Given the description of an element on the screen output the (x, y) to click on. 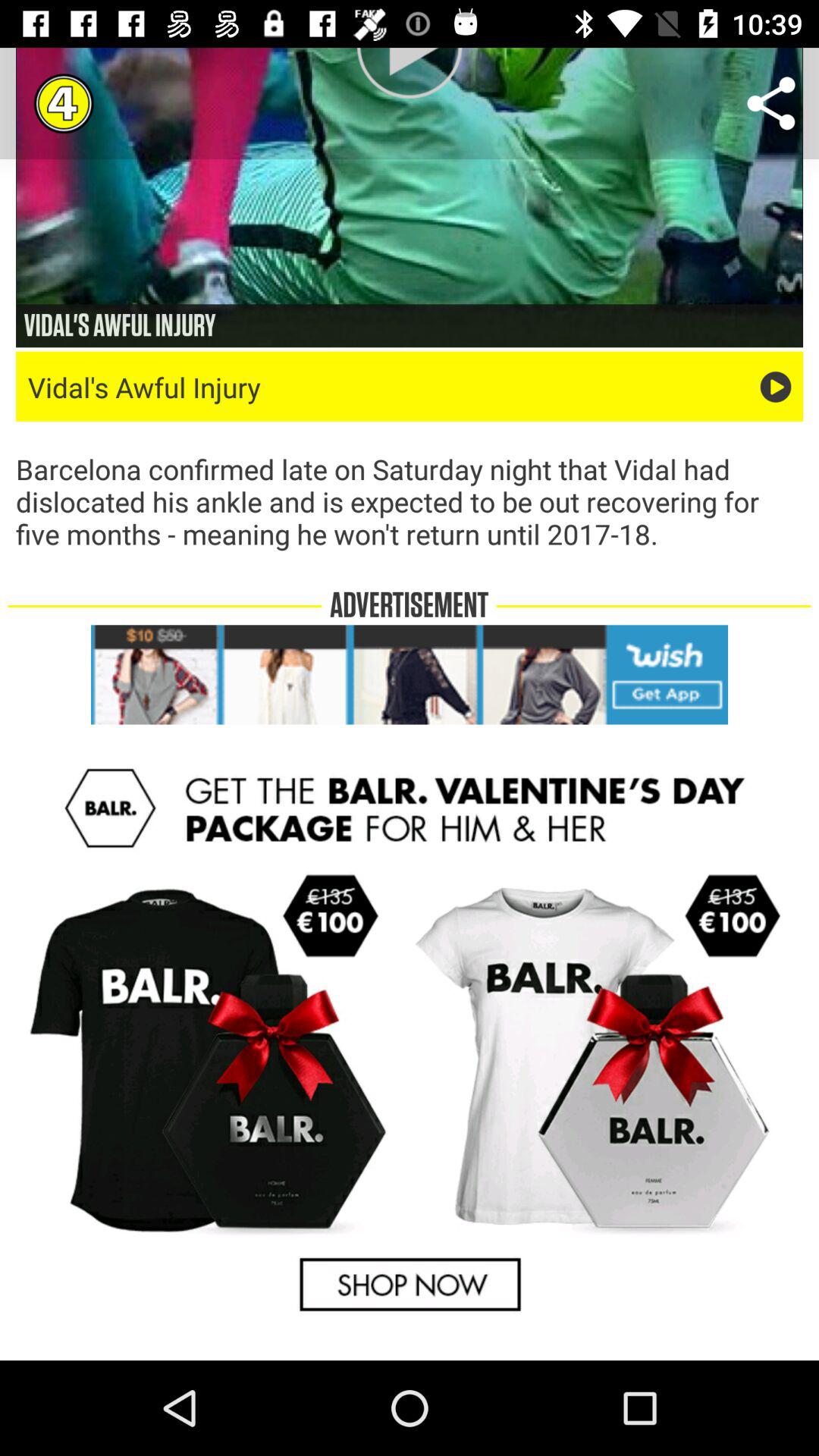
go back (409, 1040)
